Given the description of an element on the screen output the (x, y) to click on. 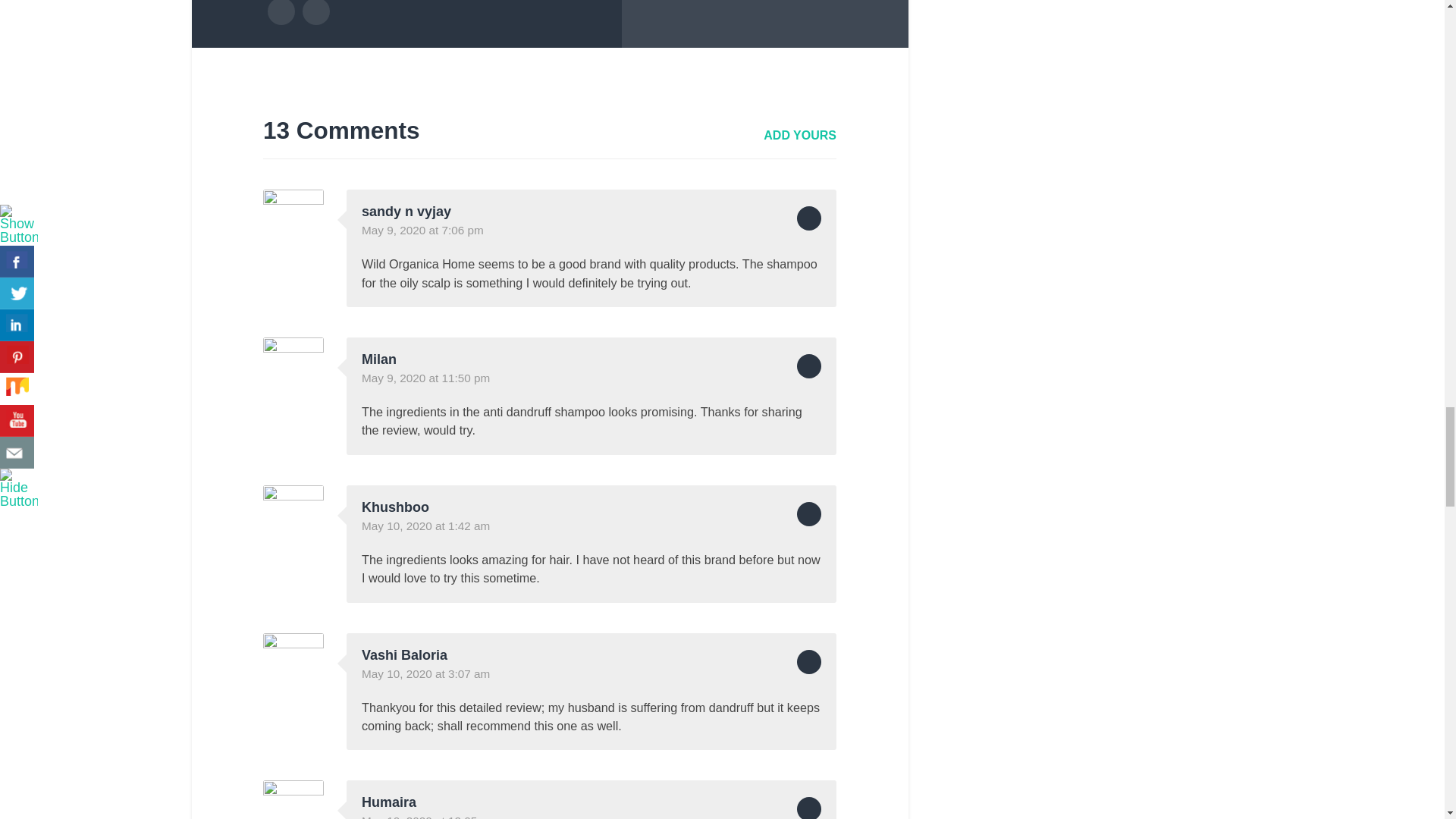
May 9, 2020 at 11:50 pm (425, 377)
May 9, 2020 at 7:06 pm (422, 229)
sandy n vyjay (406, 211)
Author archive (280, 12)
Reply (808, 218)
Milan (378, 359)
Author website (316, 12)
ADD YOURS (798, 134)
